Given the description of an element on the screen output the (x, y) to click on. 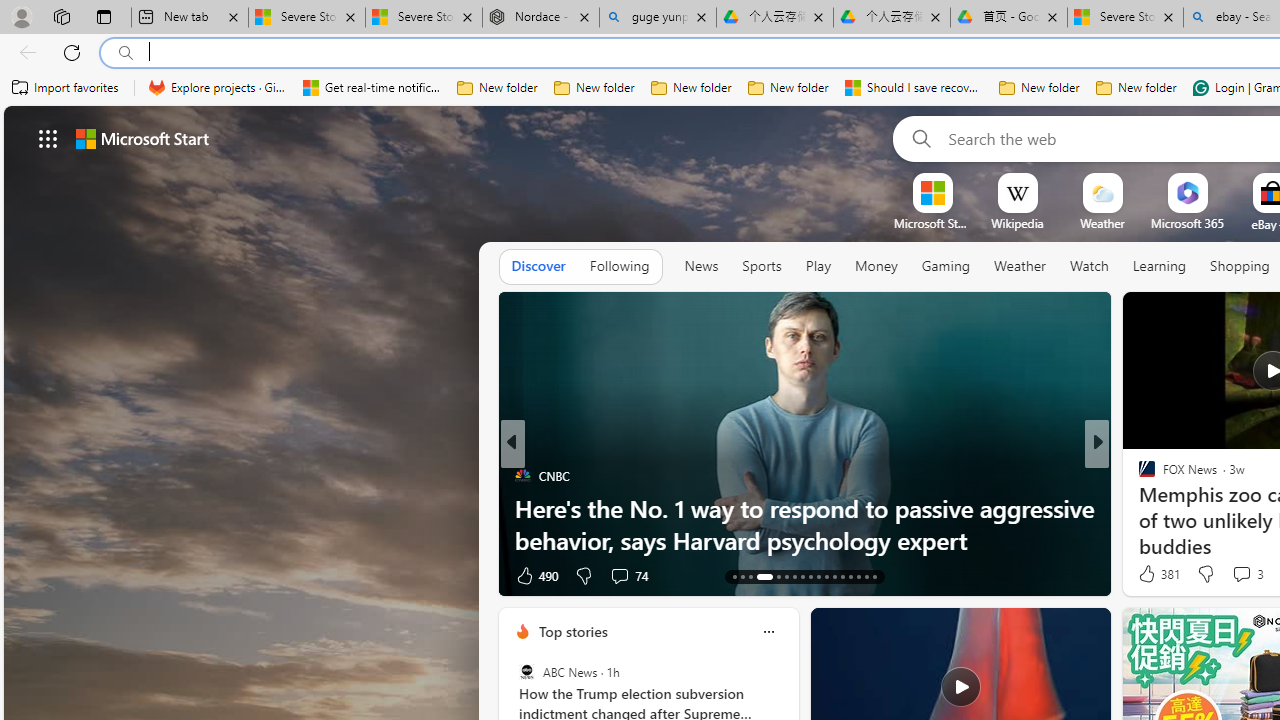
View comments 74 Comment (619, 575)
View comments 100 Comment (1241, 574)
16 Like (1149, 574)
13 Like (1149, 574)
381 Like (1157, 574)
AutomationID: tab-29 (874, 576)
View comments 23 Comment (11, 575)
View comments 1 Comment (1234, 574)
View comments 74 Comment (628, 574)
View comments 10 Comment (1229, 575)
AutomationID: tab-26 (850, 576)
AutomationID: tab-21 (810, 576)
View comments 19 Comment (1237, 574)
